Given the description of an element on the screen output the (x, y) to click on. 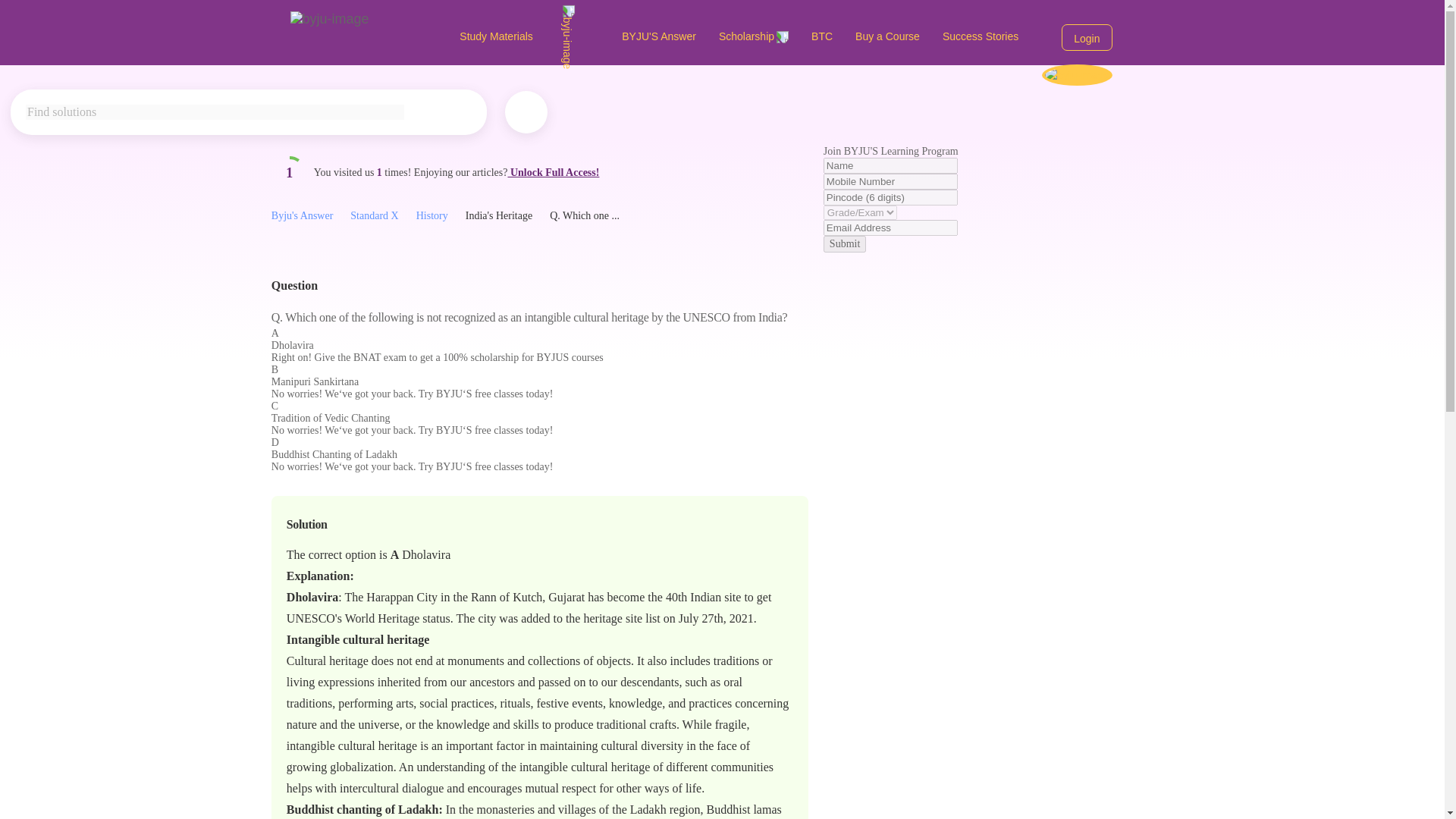
Study Materials (529, 35)
